Given the description of an element on the screen output the (x, y) to click on. 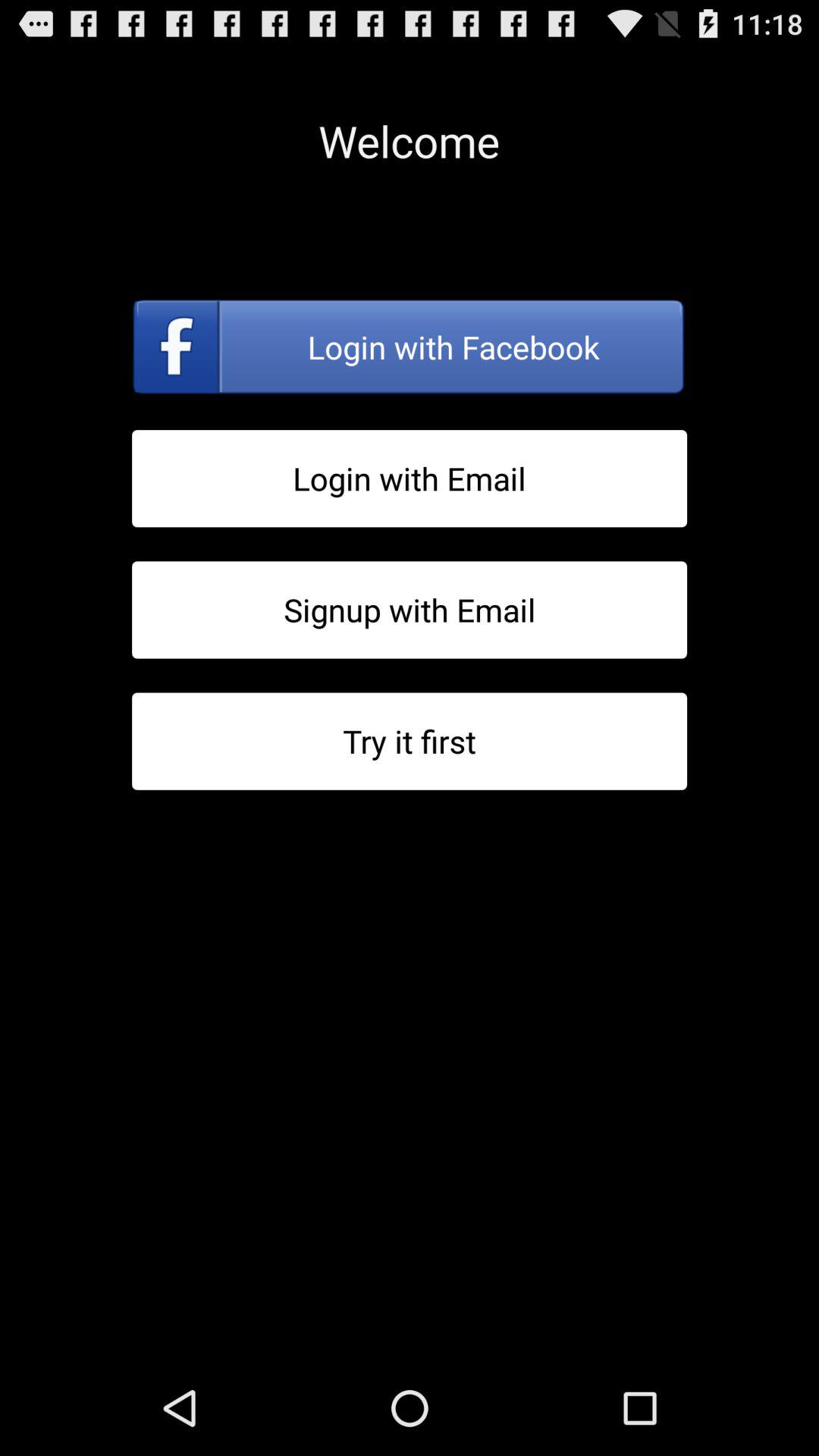
signup link (409, 609)
